Given the description of an element on the screen output the (x, y) to click on. 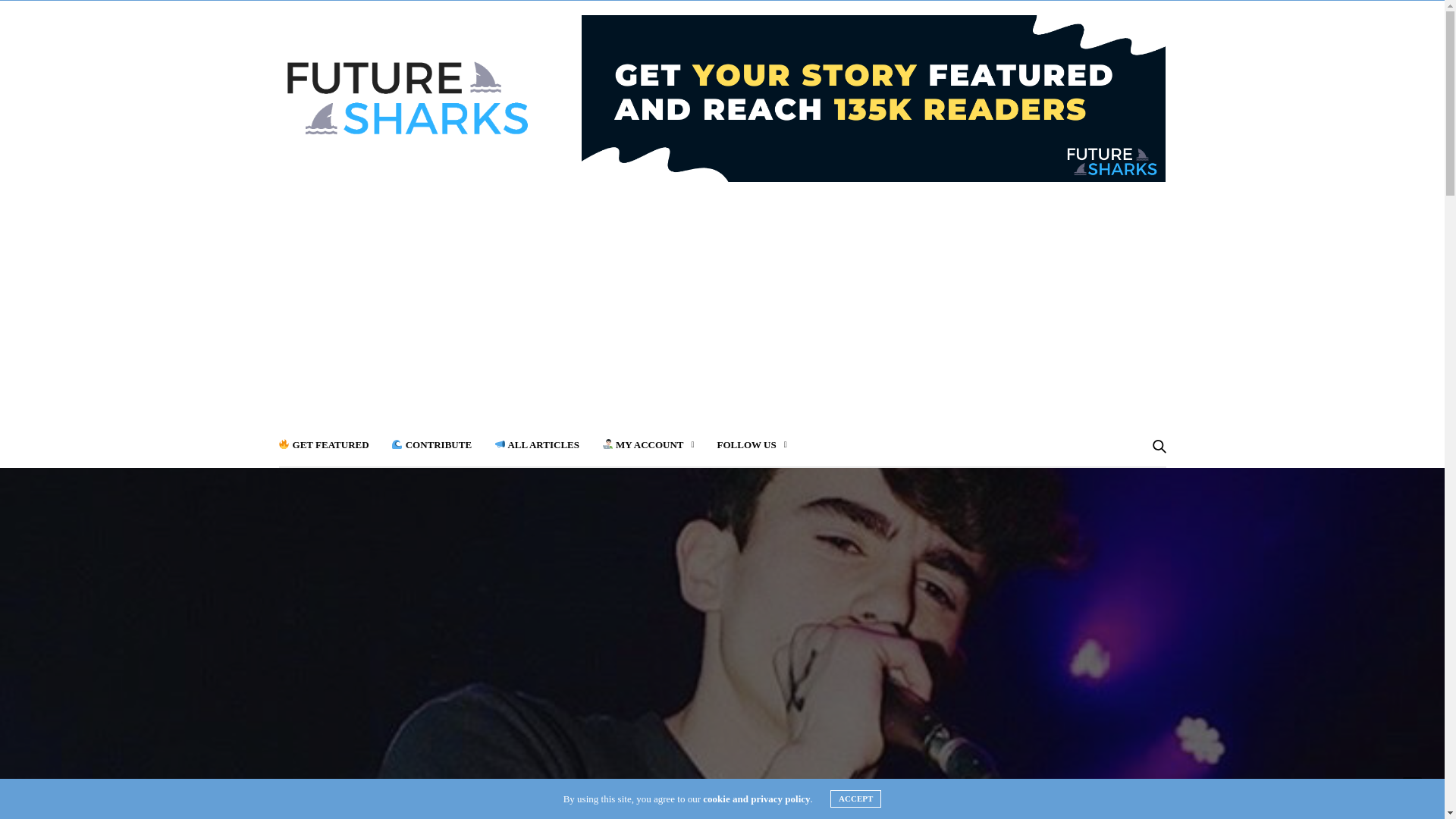
ALL ARTICLES (537, 445)
FOLLOW US (752, 445)
CONTRIBUTE (431, 445)
Search (1139, 487)
GET FEATURED (324, 445)
MY ACCOUNT (648, 445)
